Given the description of an element on the screen output the (x, y) to click on. 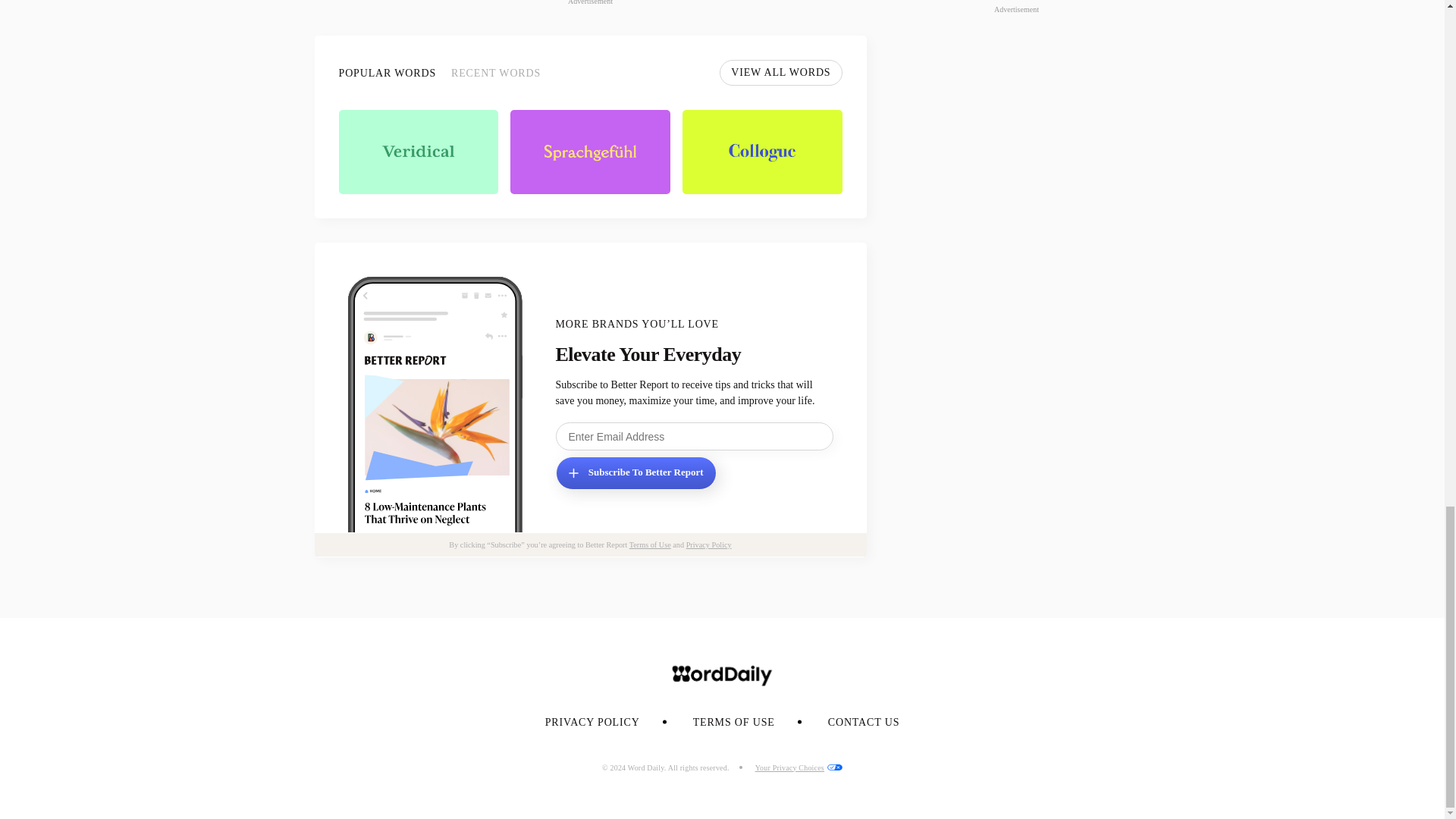
PRIVACY POLICY (592, 722)
POPULAR WORDS (386, 72)
CONTACT US (863, 722)
VIEW ALL WORDS (780, 72)
Terms of Use (649, 544)
RECENT WORDS (495, 72)
Privacy Policy (708, 544)
Subscribe To Better Report (635, 472)
TERMS OF USE (733, 722)
Your Privacy Choices (799, 767)
